Given the description of an element on the screen output the (x, y) to click on. 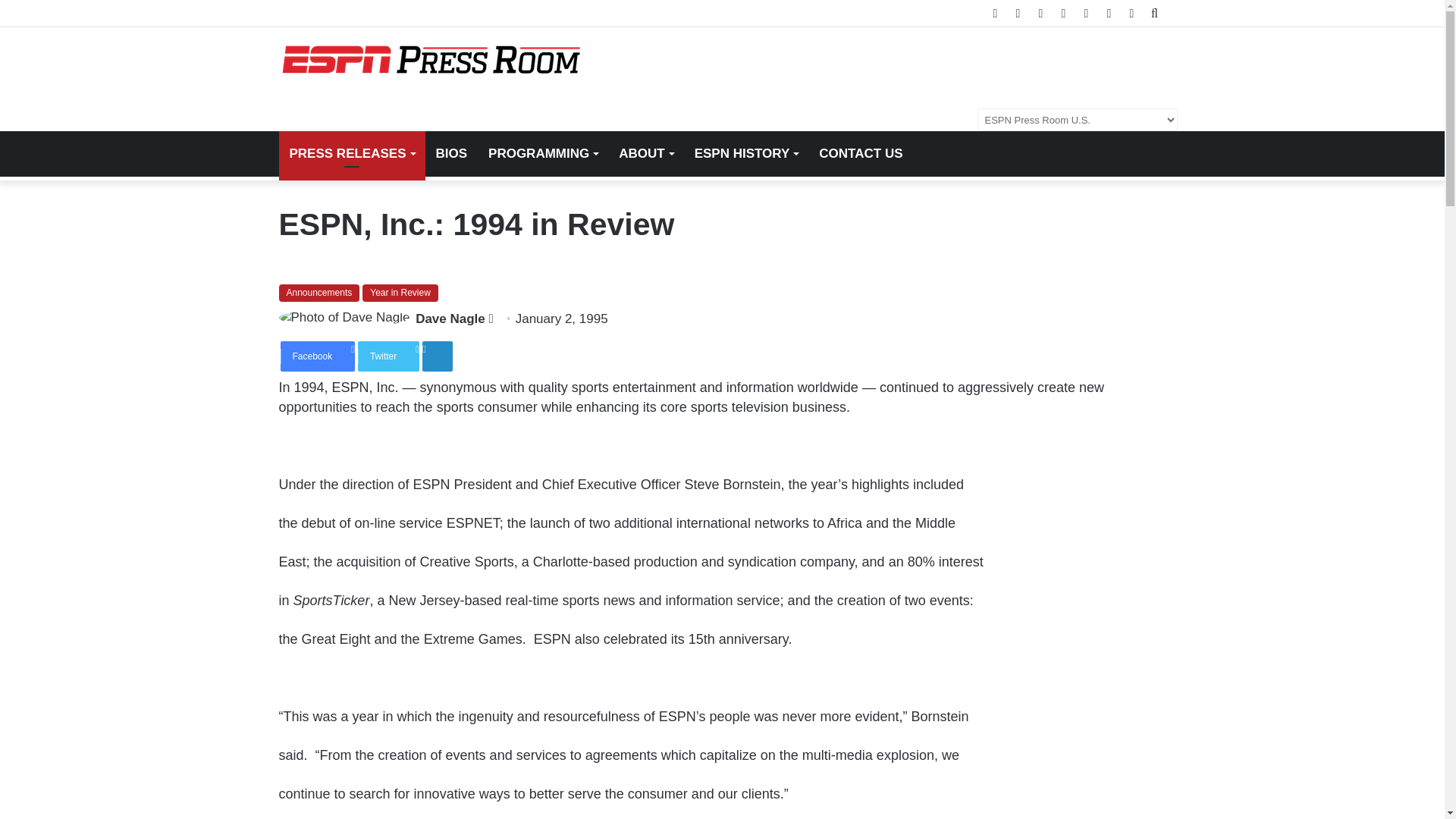
Announcements (319, 292)
ESPN HISTORY (746, 153)
Facebook (318, 356)
LinkedIn (437, 356)
Dave Nagle (449, 318)
CONTACT US (860, 153)
PRESS RELEASES (352, 153)
Twitter (388, 356)
BIOS (451, 153)
Year in Review (400, 292)
ABOUT (645, 153)
PROGRAMMING (542, 153)
ESPN Press Room U.S. (430, 59)
Dave Nagle (449, 318)
